Given the description of an element on the screen output the (x, y) to click on. 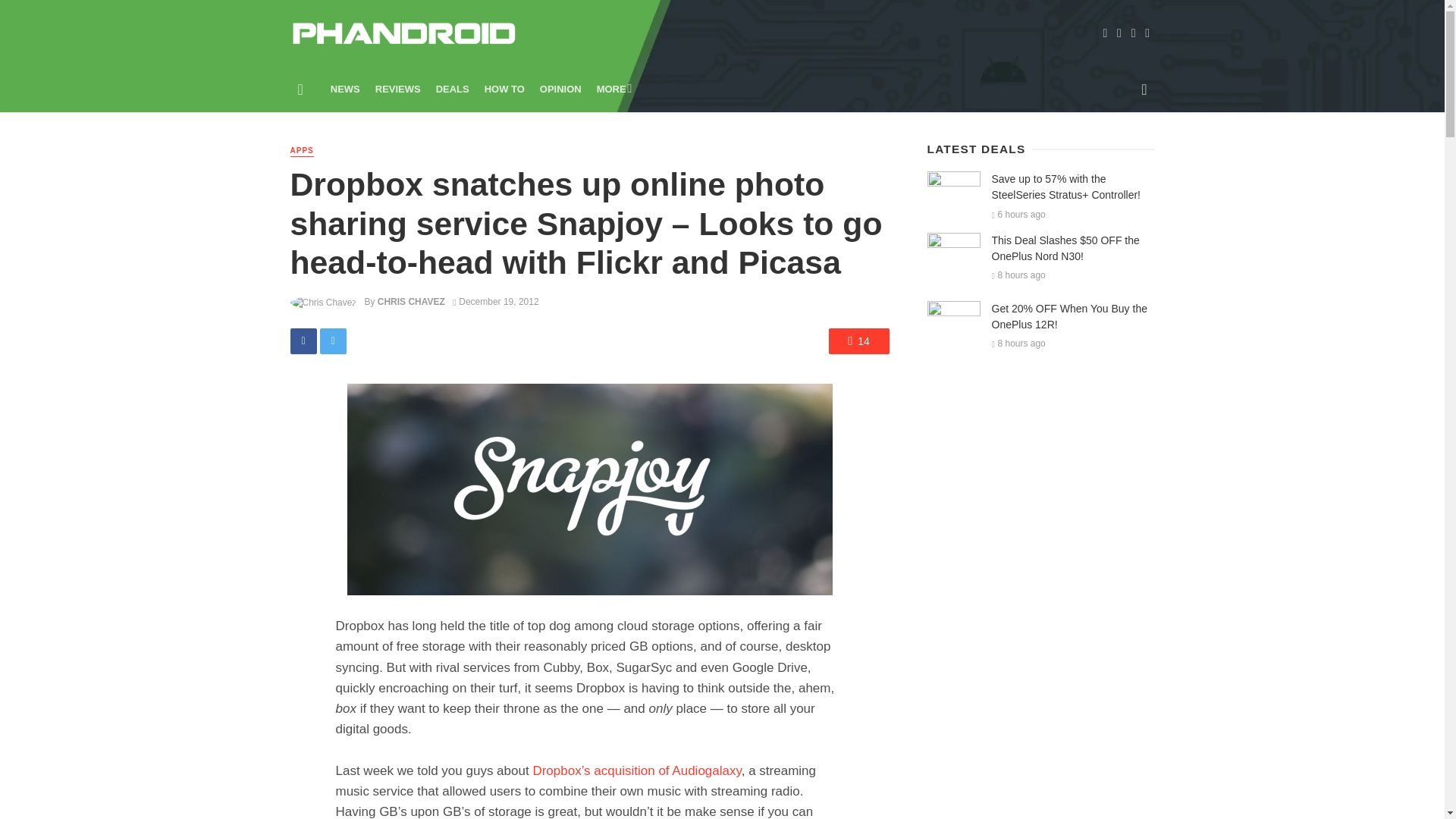
December 19, 2012 at 6:05 pm (495, 301)
CHRIS CHAVEZ (411, 301)
REVIEWS (398, 89)
Share on Twitter (333, 340)
Posts by Chris Chavez (411, 301)
APPS (301, 151)
OPINION (560, 89)
MORE (612, 89)
DEALS (452, 89)
14 Comments (858, 340)
HOW TO (504, 89)
Share on Facebook (302, 340)
NEWS (345, 89)
14 (858, 340)
